Given the description of an element on the screen output the (x, y) to click on. 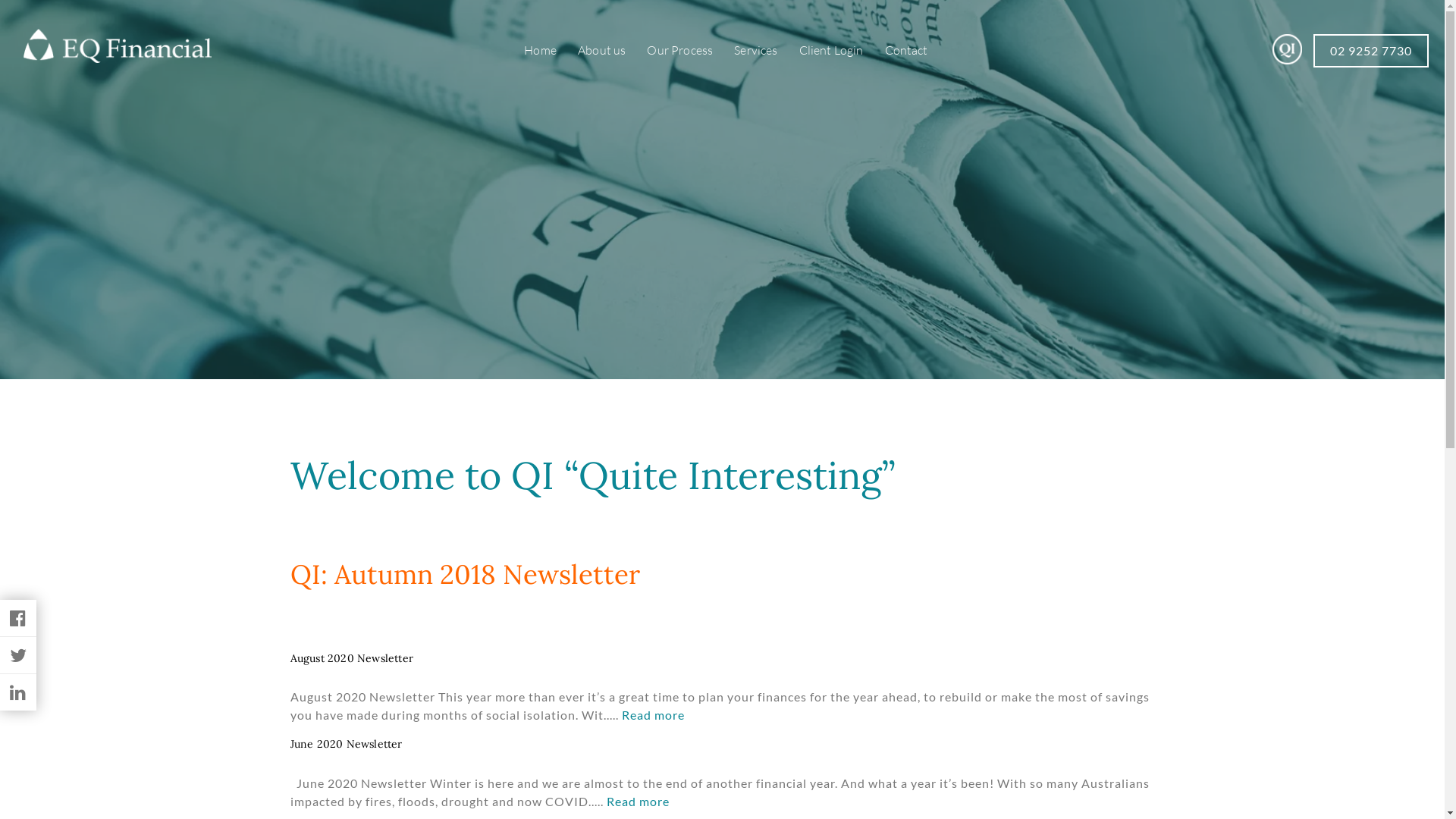
Contact Element type: text (908, 50)
Home Element type: text (541, 50)
About us Element type: text (603, 50)
Our Process Element type: text (681, 50)
Client Login Element type: text (833, 50)
Read more Element type: text (652, 714)
Services Element type: text (757, 50)
August 2020 Newsletter Element type: text (351, 657)
June 2020 Newsletter Element type: text (345, 743)
Read more Element type: text (637, 800)
02 9252 7730 Element type: text (1370, 50)
